Given the description of an element on the screen output the (x, y) to click on. 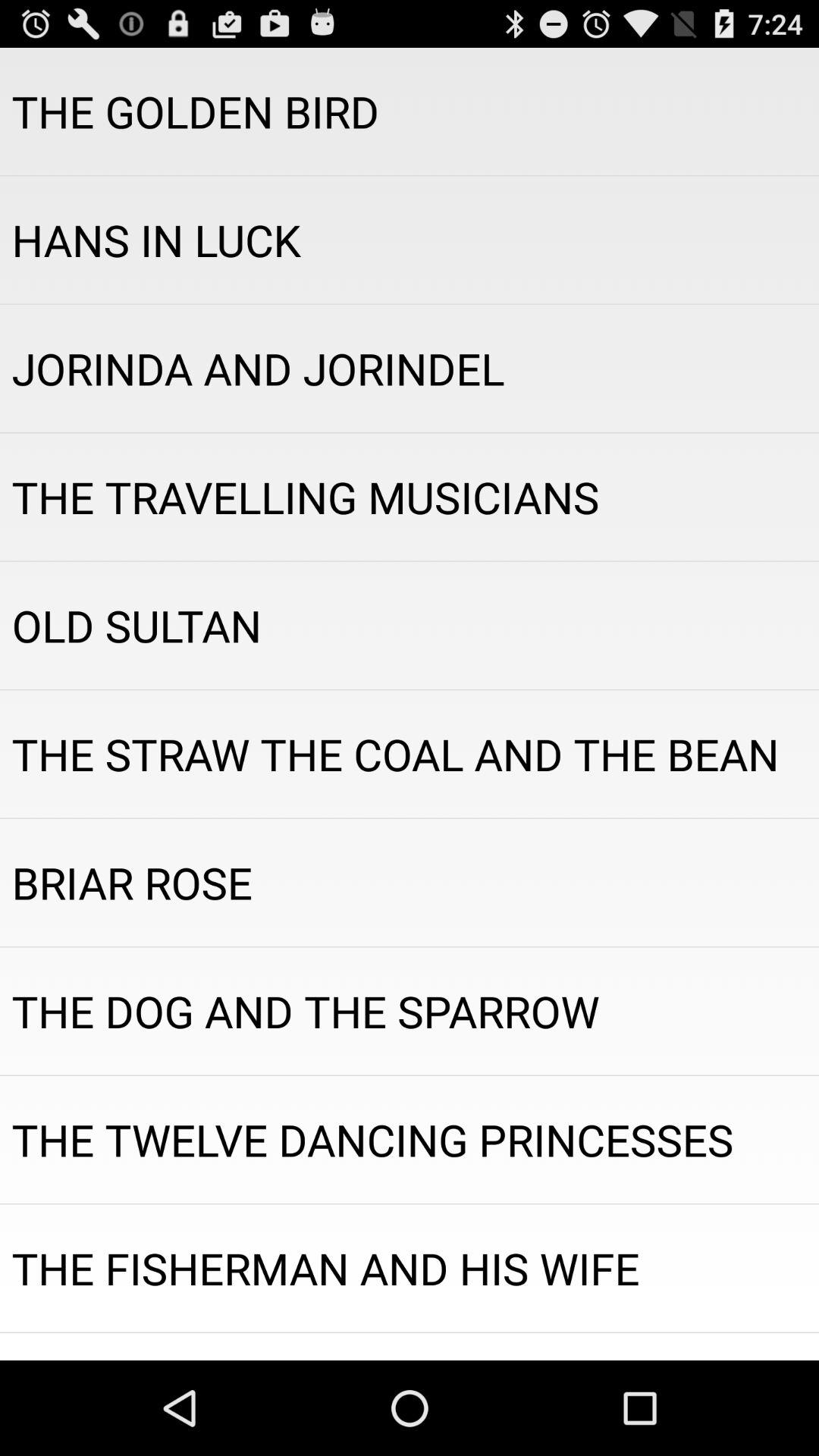
launch the item above the dog and app (409, 882)
